Given the description of an element on the screen output the (x, y) to click on. 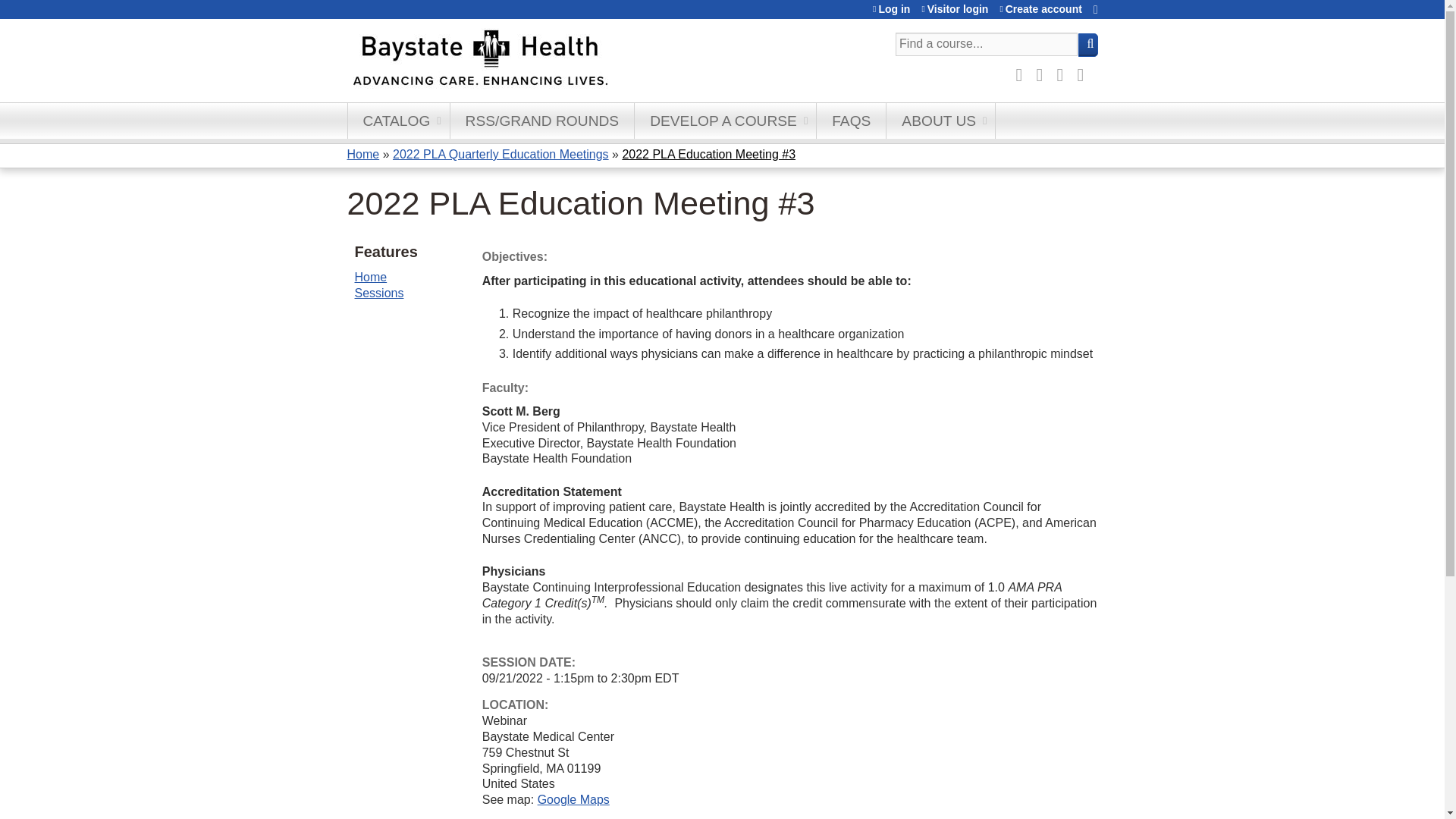
FAQS (851, 120)
Home (550, 60)
ABOUT US (940, 120)
Create account (1039, 9)
Visitor login (954, 9)
DEVELOP A COURSE (725, 120)
Log in (891, 9)
CATALOG (398, 120)
